Given the description of an element on the screen output the (x, y) to click on. 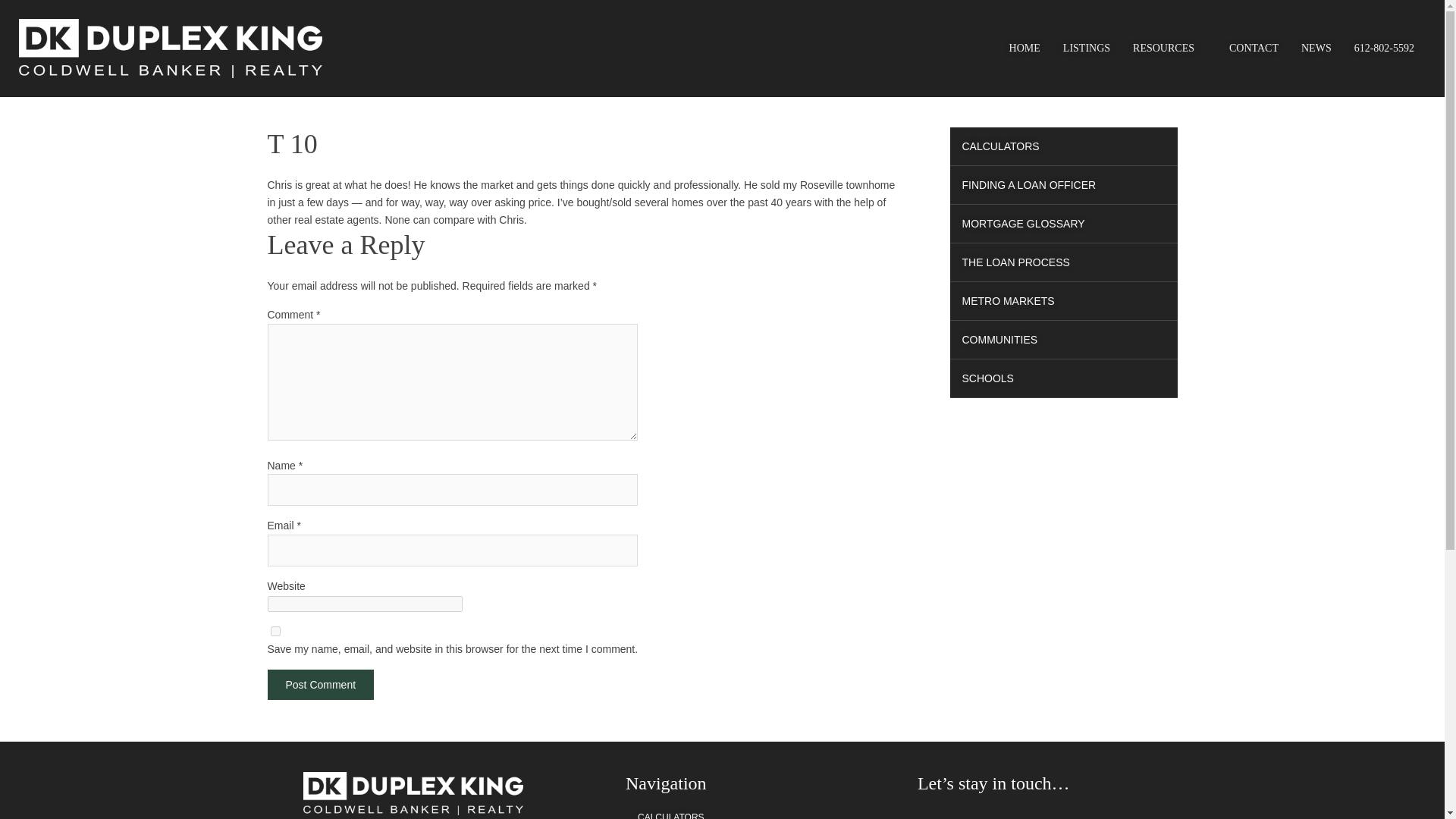
HOME (1024, 48)
612-802-5592 (1383, 48)
Duplex King (169, 47)
yes (274, 631)
LISTINGS (1086, 48)
CONTACT (1253, 48)
NEWS (1316, 48)
RESOURCES (1169, 48)
Post Comment (320, 684)
